Given the description of an element on the screen output the (x, y) to click on. 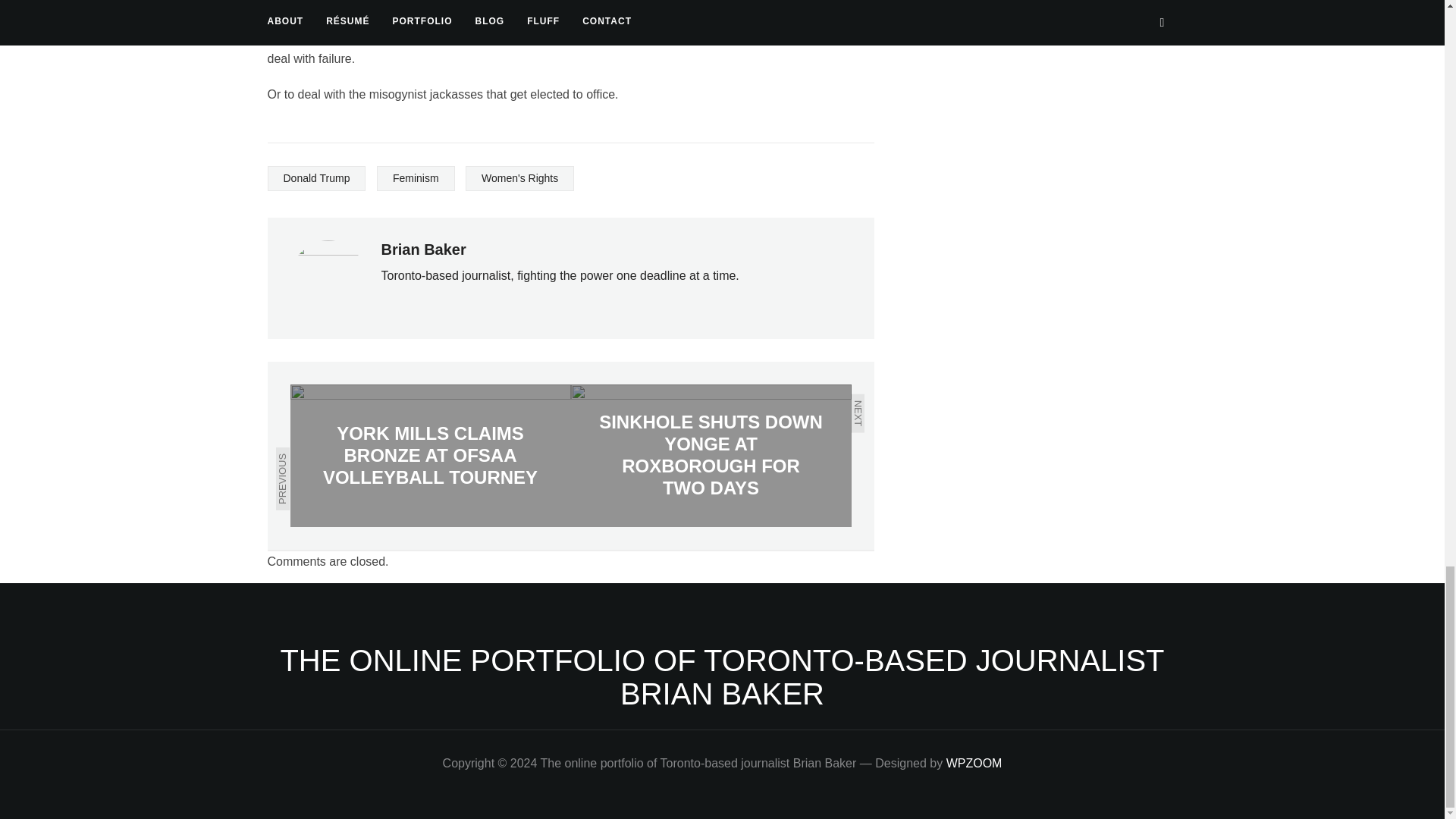
Posts by Brian Baker (422, 248)
York Mills claims bronze at OFSAA volleyball tourney (429, 455)
Sinkhole shuts down Yonge at Roxborough for two days (710, 455)
